Given the description of an element on the screen output the (x, y) to click on. 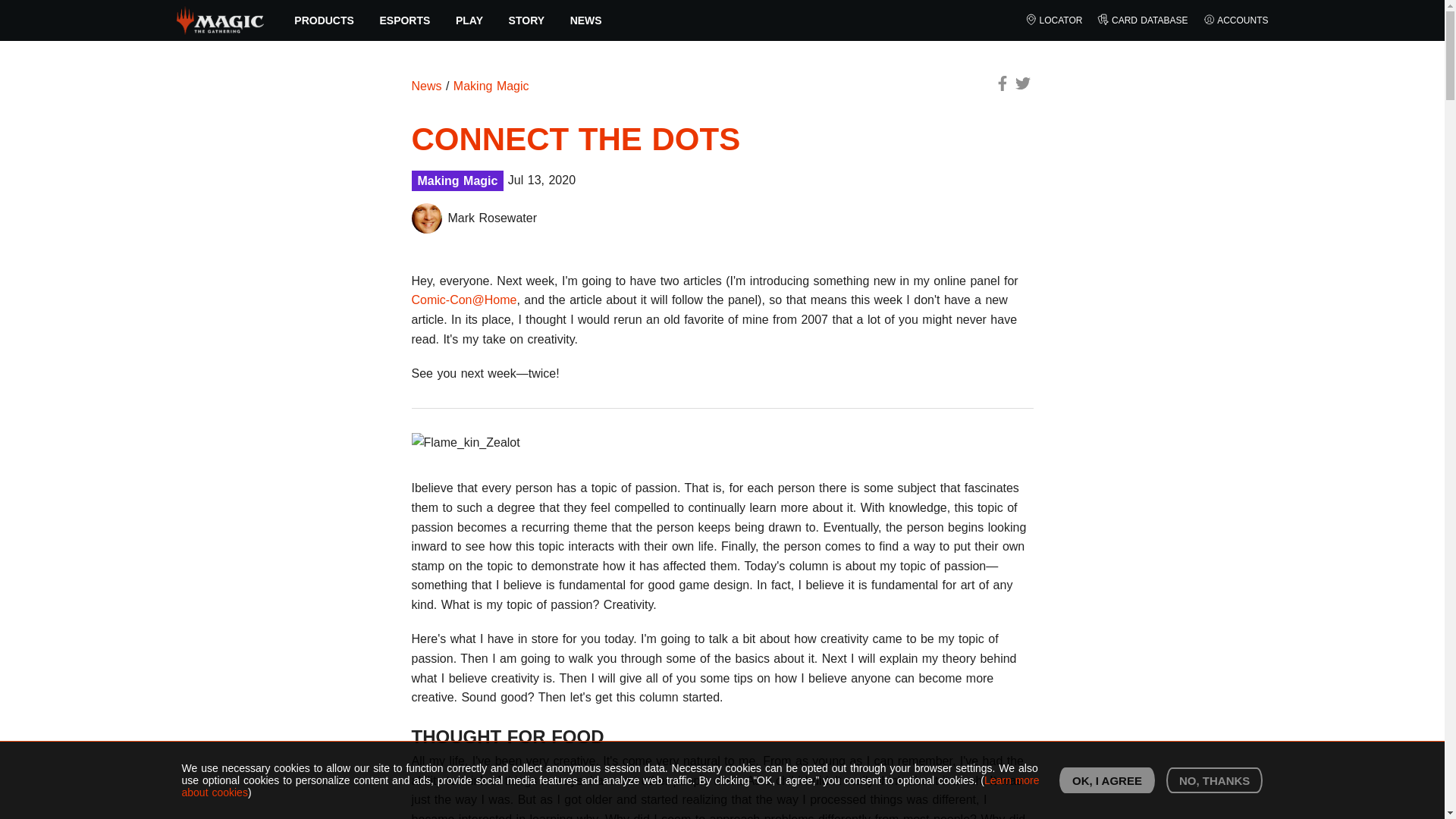
ESPORTS (405, 20)
PRODUCTS (324, 20)
PLAY (469, 20)
